Given the description of an element on the screen output the (x, y) to click on. 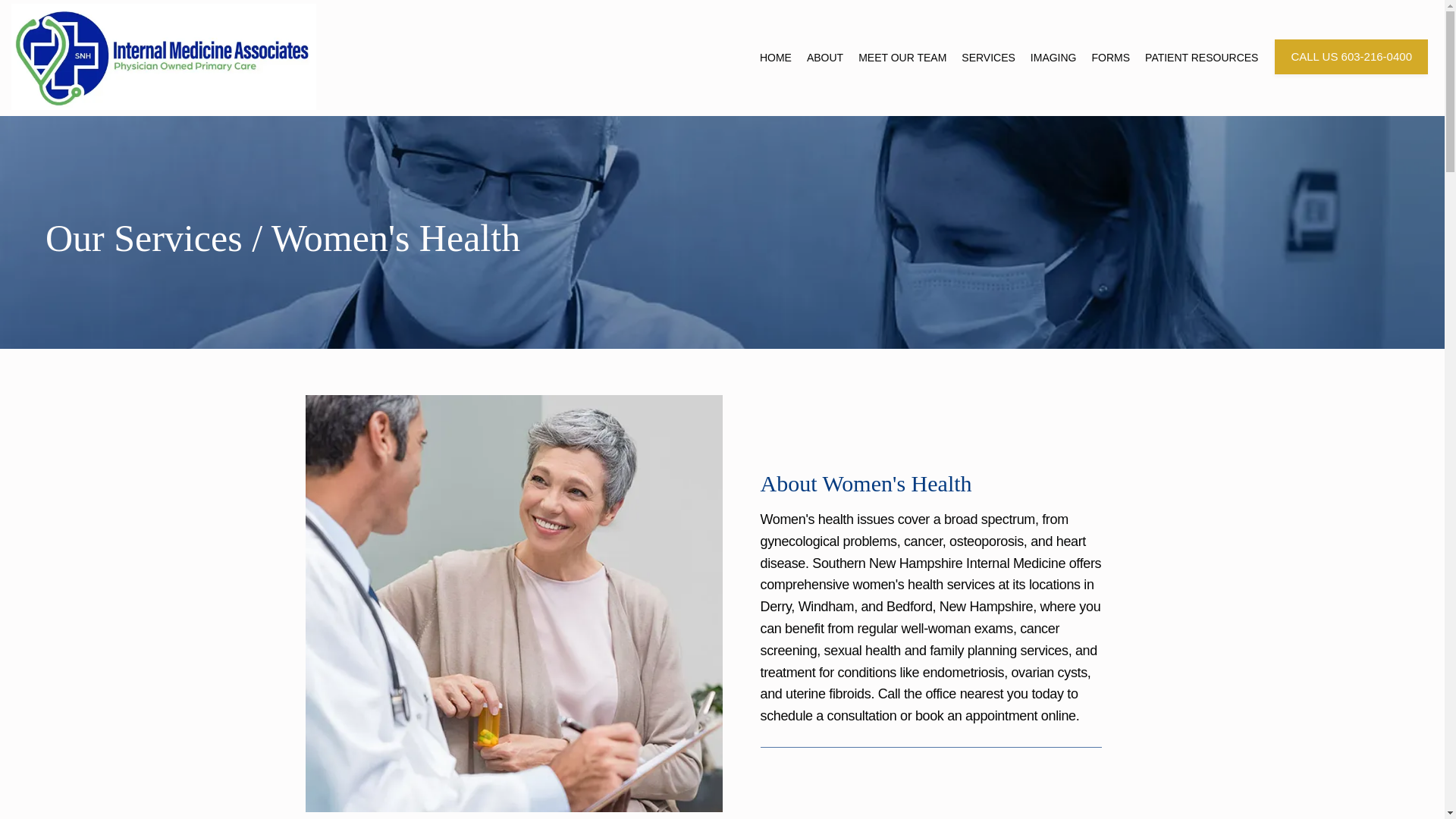
SERVICES (987, 57)
HOME (776, 57)
ABOUT (824, 57)
MEET OUR TEAM (902, 57)
